Given the description of an element on the screen output the (x, y) to click on. 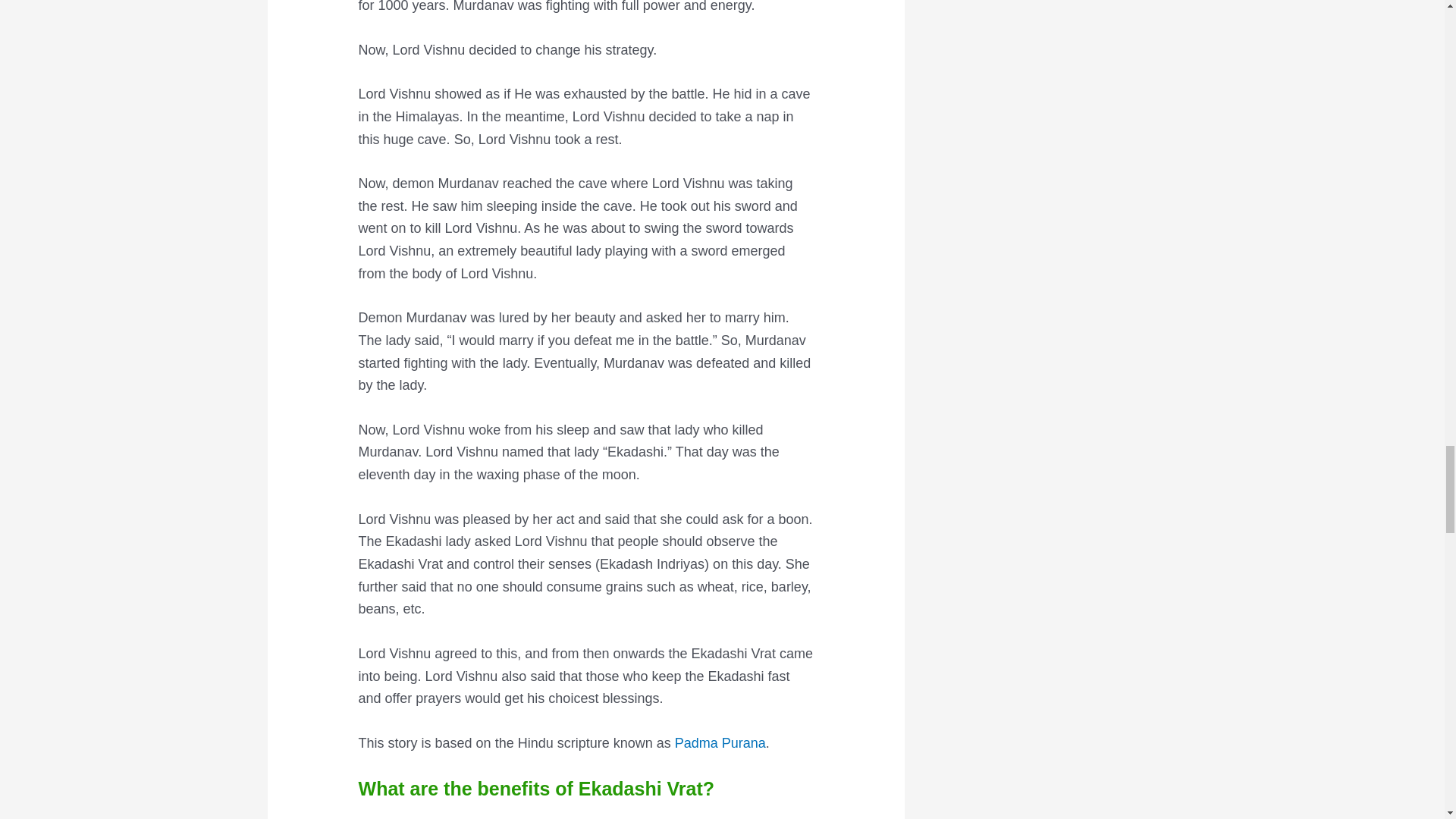
Padma Purana (720, 743)
